Given the description of an element on the screen output the (x, y) to click on. 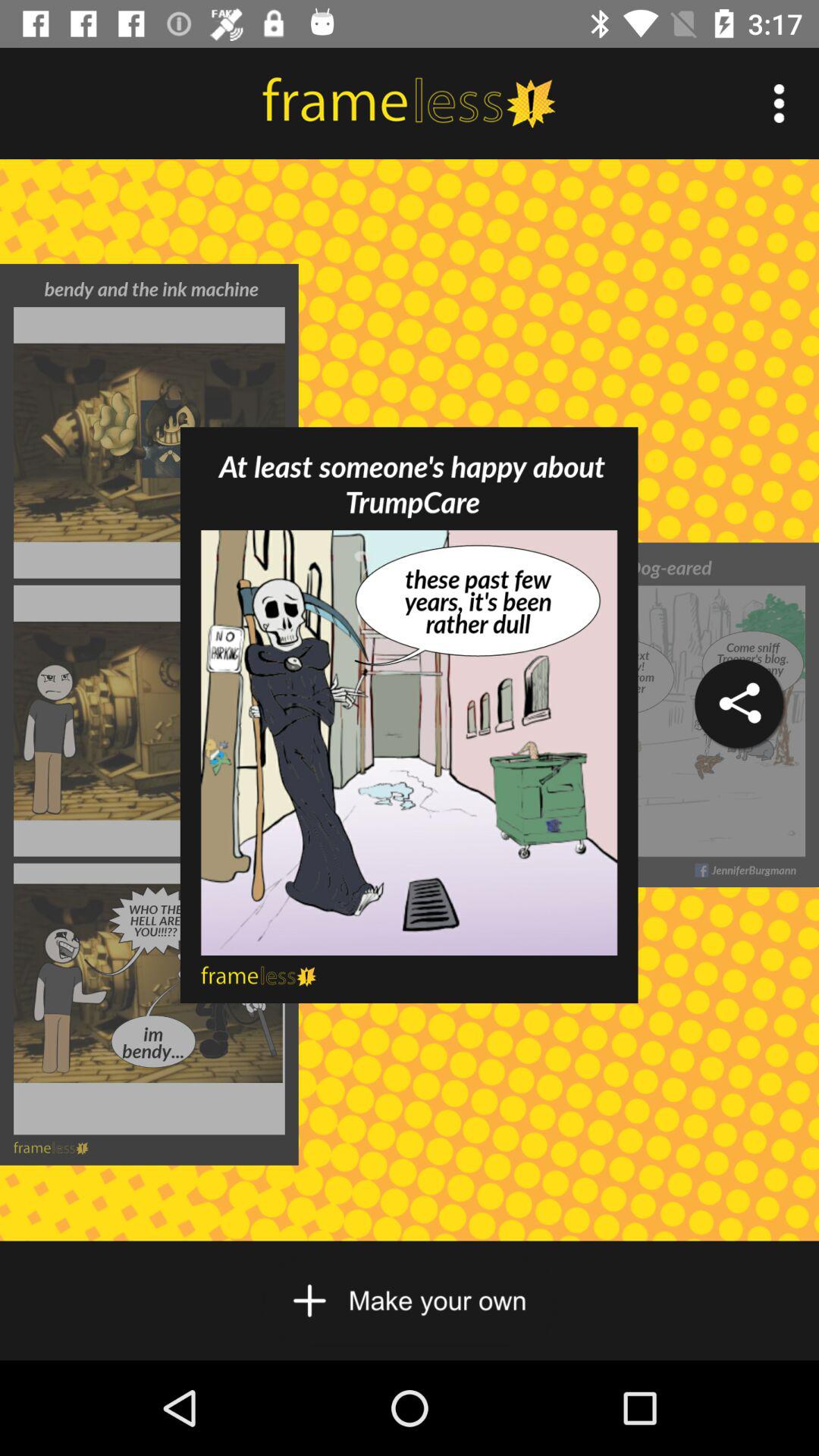
share with (738, 703)
